Given the description of an element on the screen output the (x, y) to click on. 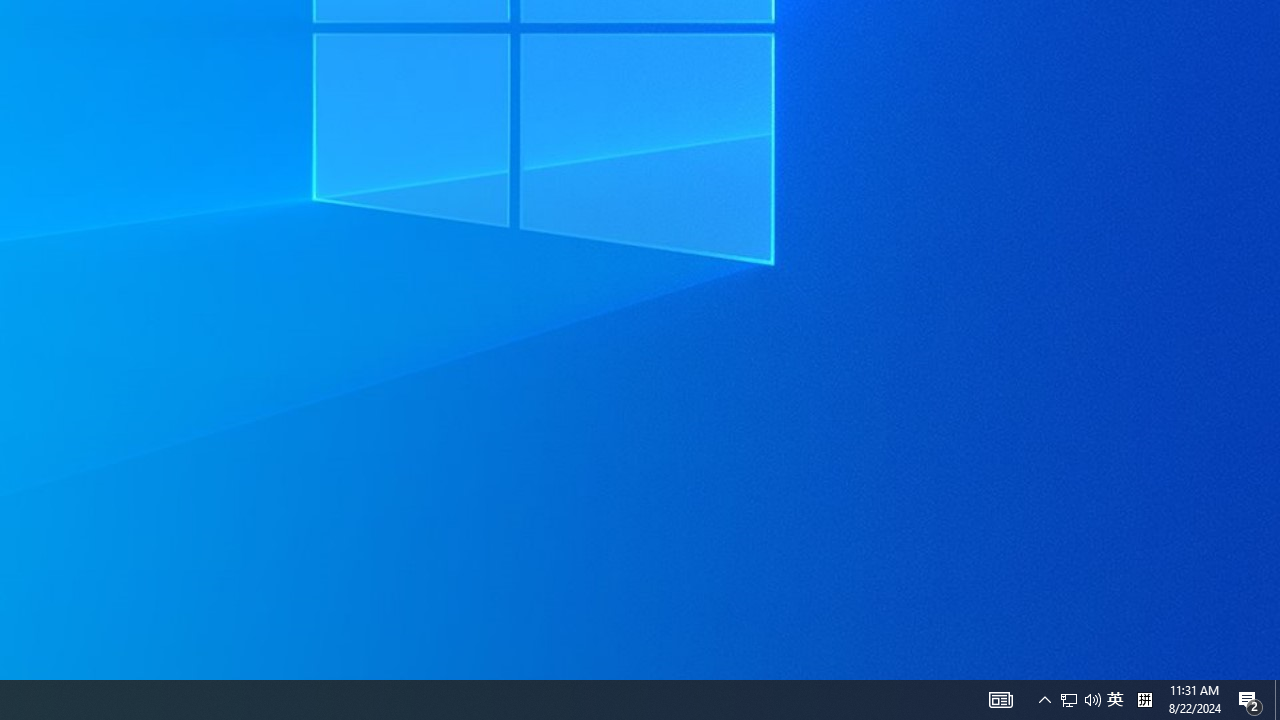
Q2790: 100% (1092, 699)
User Promoted Notification Area (1080, 699)
Notification Chevron (1044, 699)
AutomationID: 4105 (1000, 699)
Action Center, 2 new notifications (1250, 699)
Tray Input Indicator - Chinese (Simplified, China) (1144, 699)
Show desktop (1115, 699)
